Given the description of an element on the screen output the (x, y) to click on. 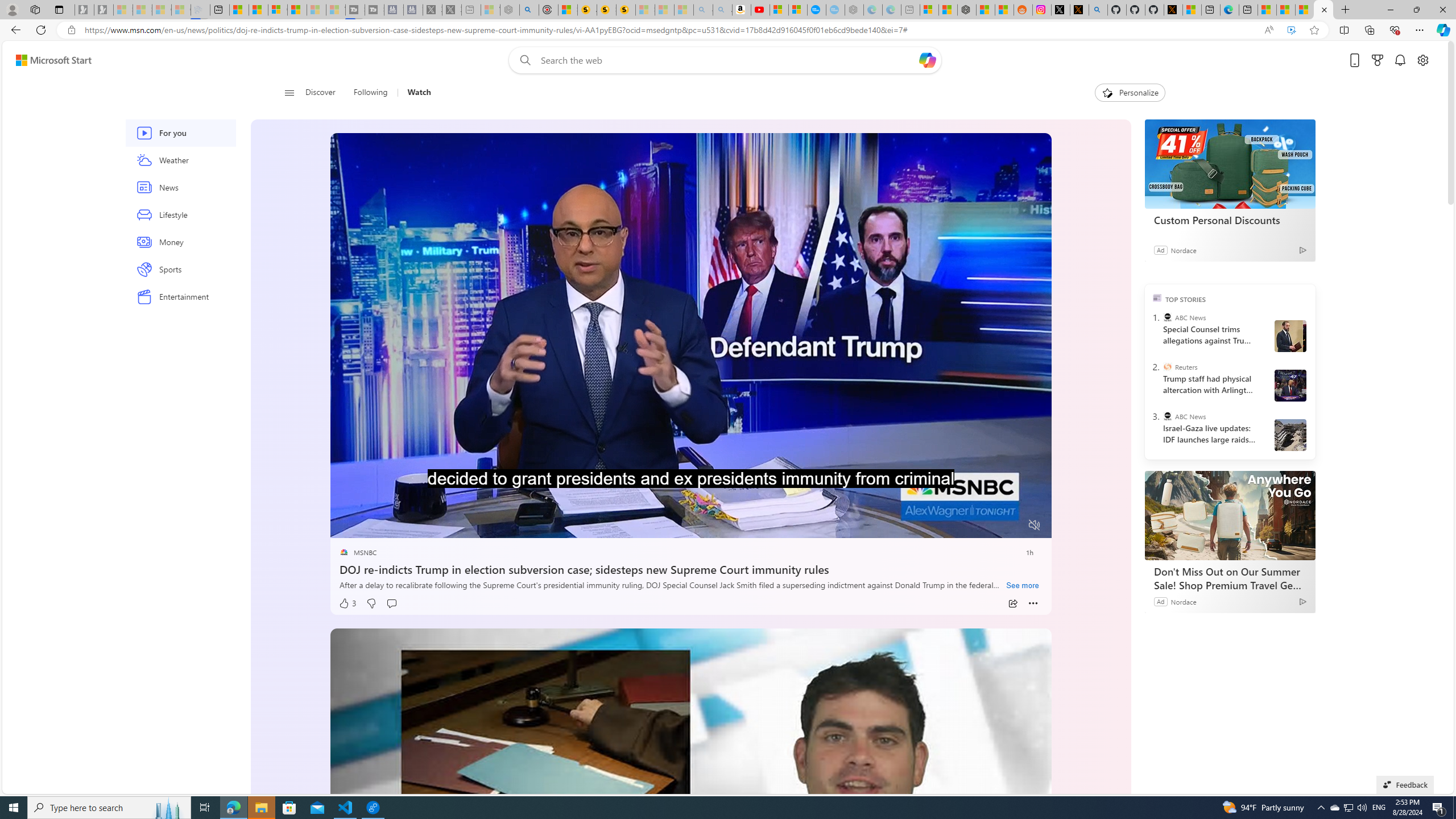
Following (370, 92)
3 Like (347, 603)
More (1033, 603)
Pause (347, 525)
Workspaces (34, 9)
ABC News (1167, 415)
Skip to content (49, 59)
View site information (70, 29)
Shanghai, China Weather trends | Microsoft Weather (1004, 9)
Overview (277, 9)
